Given the description of an element on the screen output the (x, y) to click on. 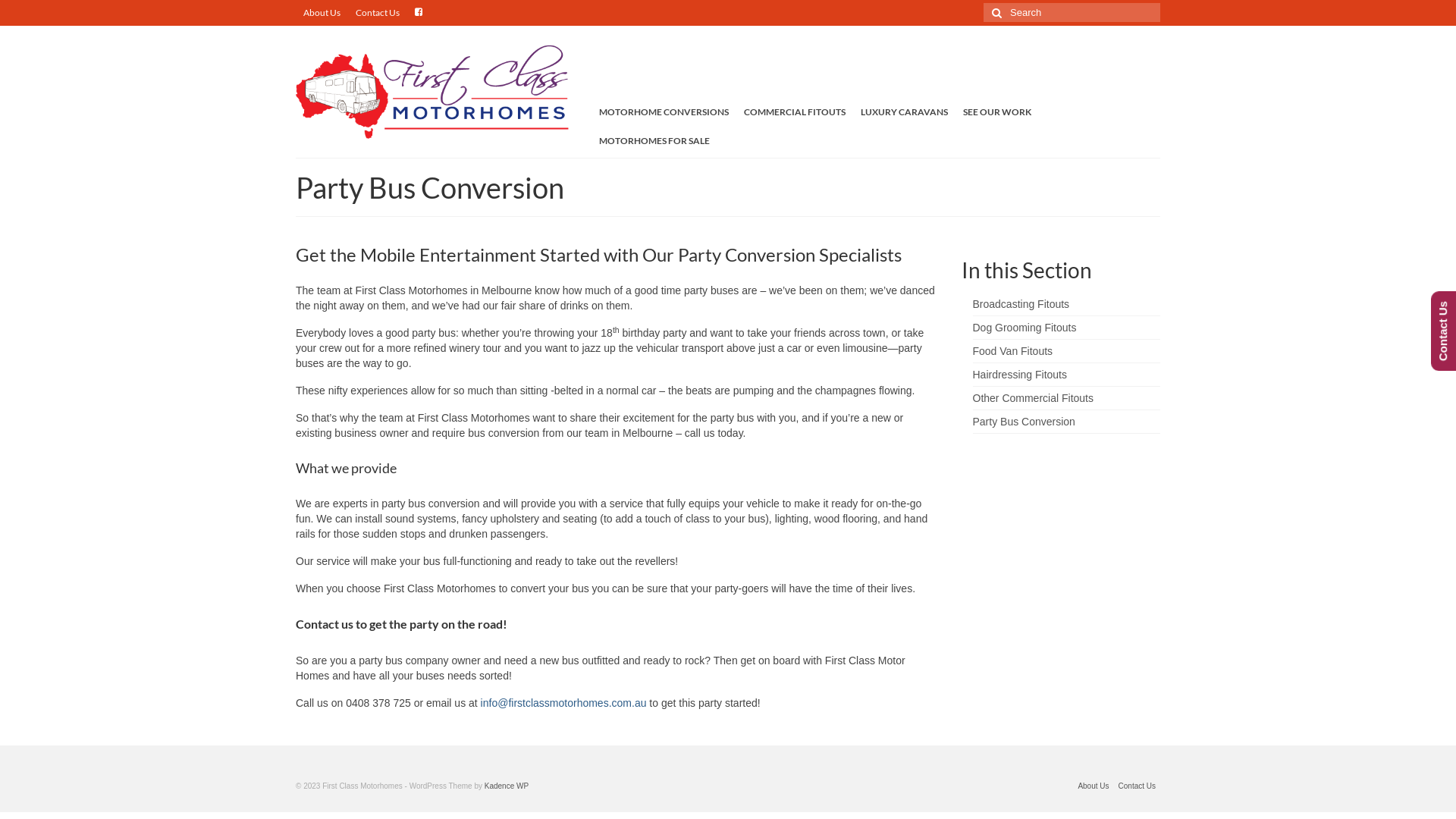
Party Bus Conversion Element type: text (1023, 421)
SEE OUR WORK Element type: text (996, 111)
Broadcasting Fitouts Element type: text (1020, 304)
MOTORHOMES FOR SALE Element type: text (654, 140)
Dog Grooming Fitouts Element type: text (1024, 327)
MOTORHOME CONVERSIONS Element type: text (663, 111)
Contact Us Element type: text (377, 12)
Food Van Fitouts Element type: text (1012, 351)
Kadence WP Element type: text (506, 785)
COMMERCIAL FITOUTS Element type: text (794, 111)
LUXURY CARAVANS Element type: text (904, 111)
Contact Us Element type: text (1136, 786)
Hairdressing Fitouts Element type: text (1019, 374)
Other Commercial Fitouts Element type: text (1032, 398)
About Us Element type: text (1093, 786)
About Us Element type: text (321, 12)
info@firstclassmotorhomes.com.au Element type: text (563, 702)
